Given the description of an element on the screen output the (x, y) to click on. 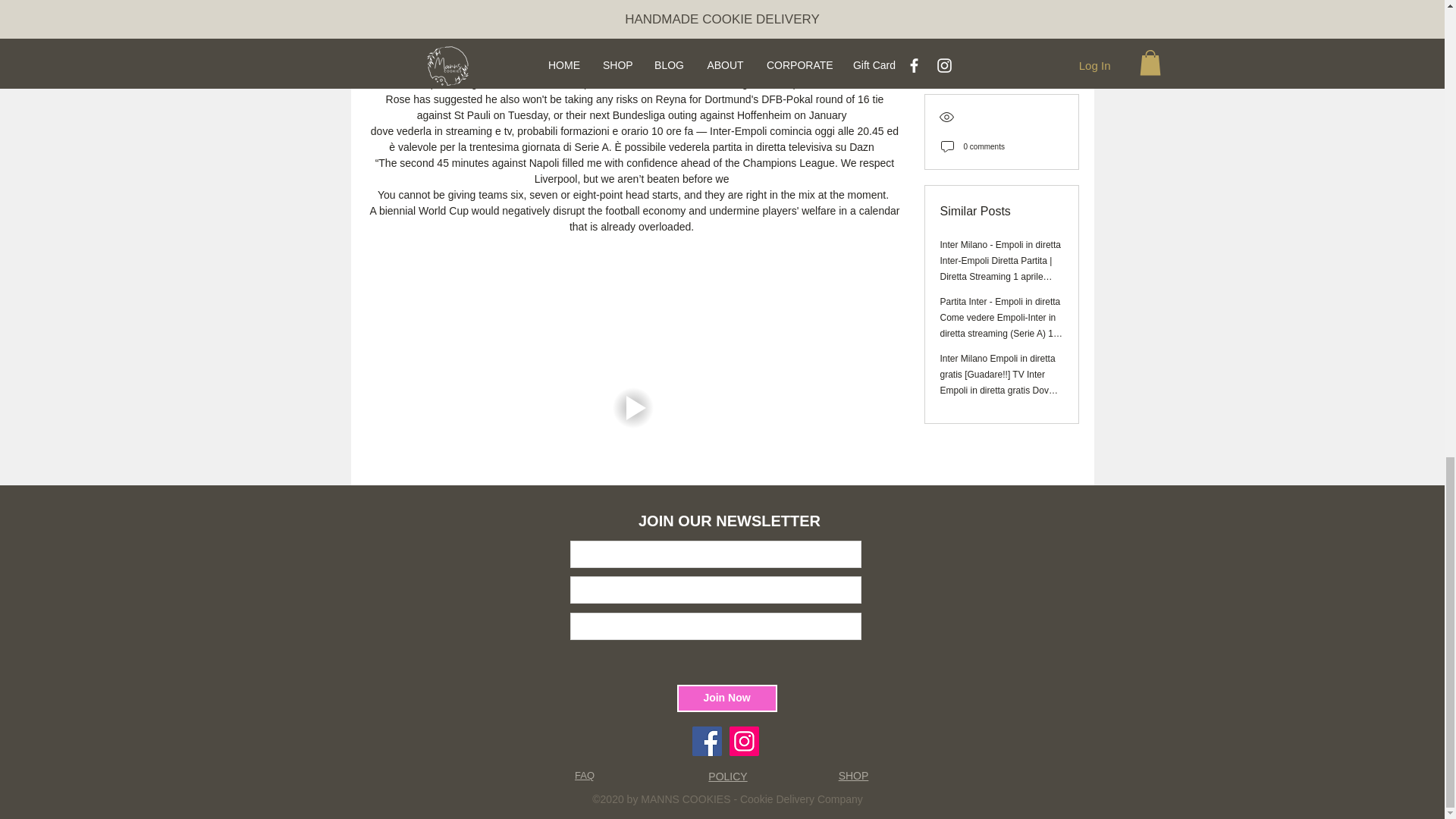
SHOP (853, 775)
FAQ (584, 775)
POLICY (726, 776)
Join Now (726, 697)
Write a comment... (632, 711)
Share (451, 609)
